Given the description of an element on the screen output the (x, y) to click on. 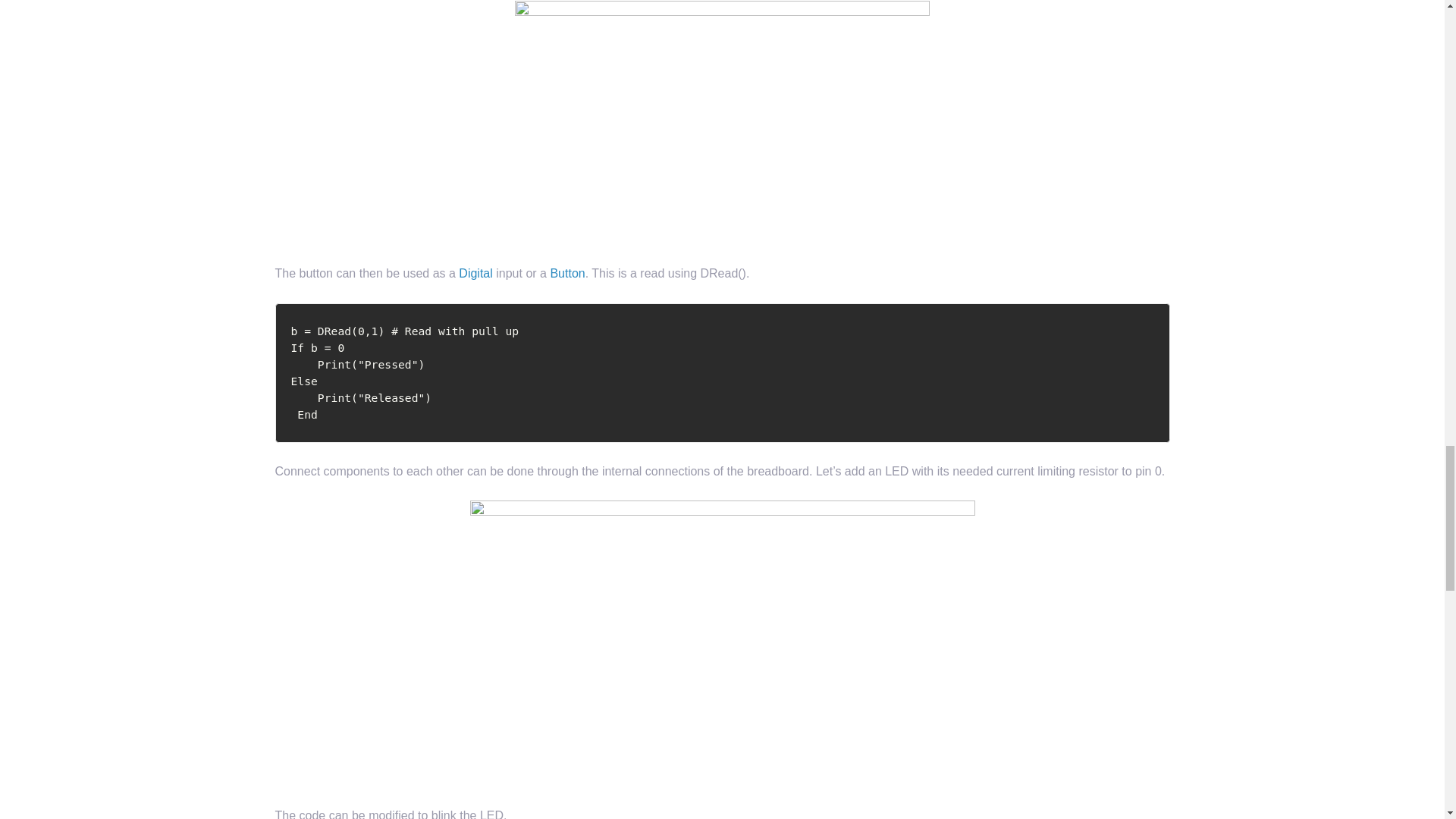
Python (722, 373)
Button (567, 273)
Digital (475, 273)
